Given the description of an element on the screen output the (x, y) to click on. 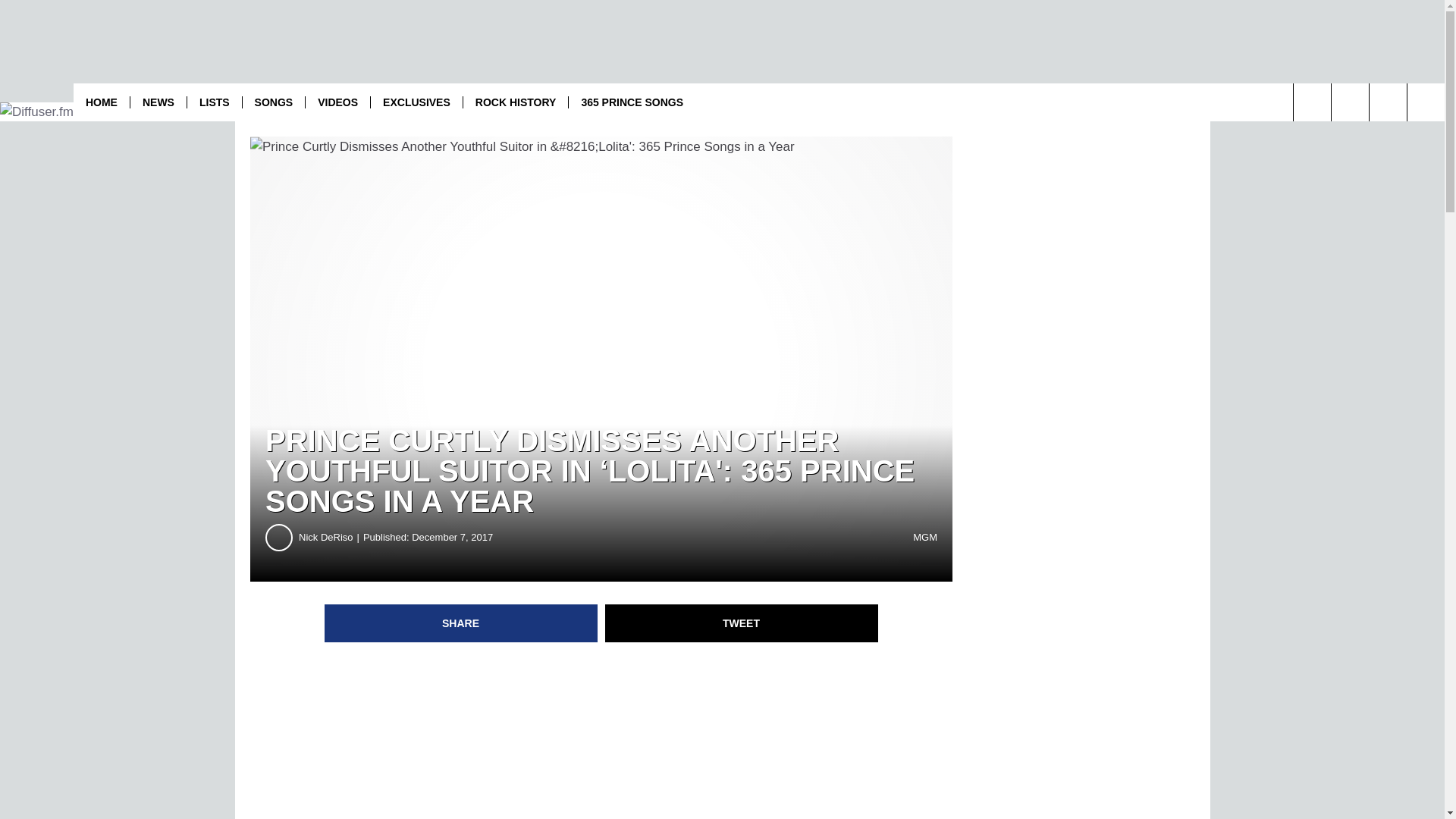
VIDEOS (336, 102)
EXCLUSIVES (416, 102)
ROCK HISTORY (516, 102)
SONGS (273, 102)
Nick DeRiso (330, 537)
LISTS (213, 102)
365 PRINCE SONGS (631, 102)
SHARE (460, 623)
HOME (101, 102)
NEWS (157, 102)
